Given the description of an element on the screen output the (x, y) to click on. 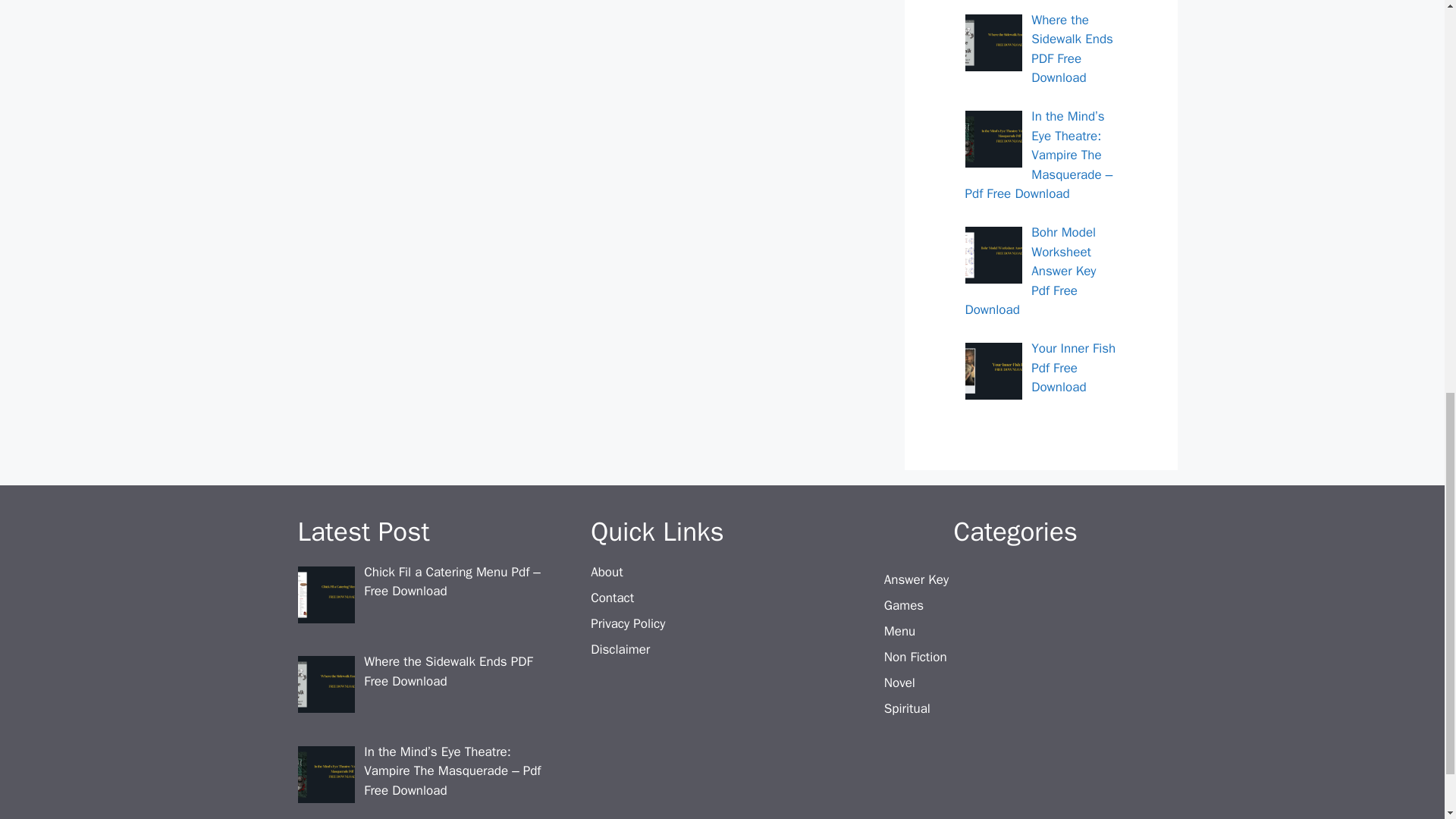
Your Inner Fish Pdf Free Download (1072, 367)
Where the Sidewalk Ends PDF Free Download (448, 671)
Where the Sidewalk Ends PDF Free Download (1071, 49)
Games (903, 605)
Privacy Policy (628, 623)
Contact (612, 597)
Bohr Model Worksheet Answer Key Pdf Free Download (1029, 270)
Answer Key (916, 579)
Novel (899, 682)
Spiritual (906, 708)
